Given the description of an element on the screen output the (x, y) to click on. 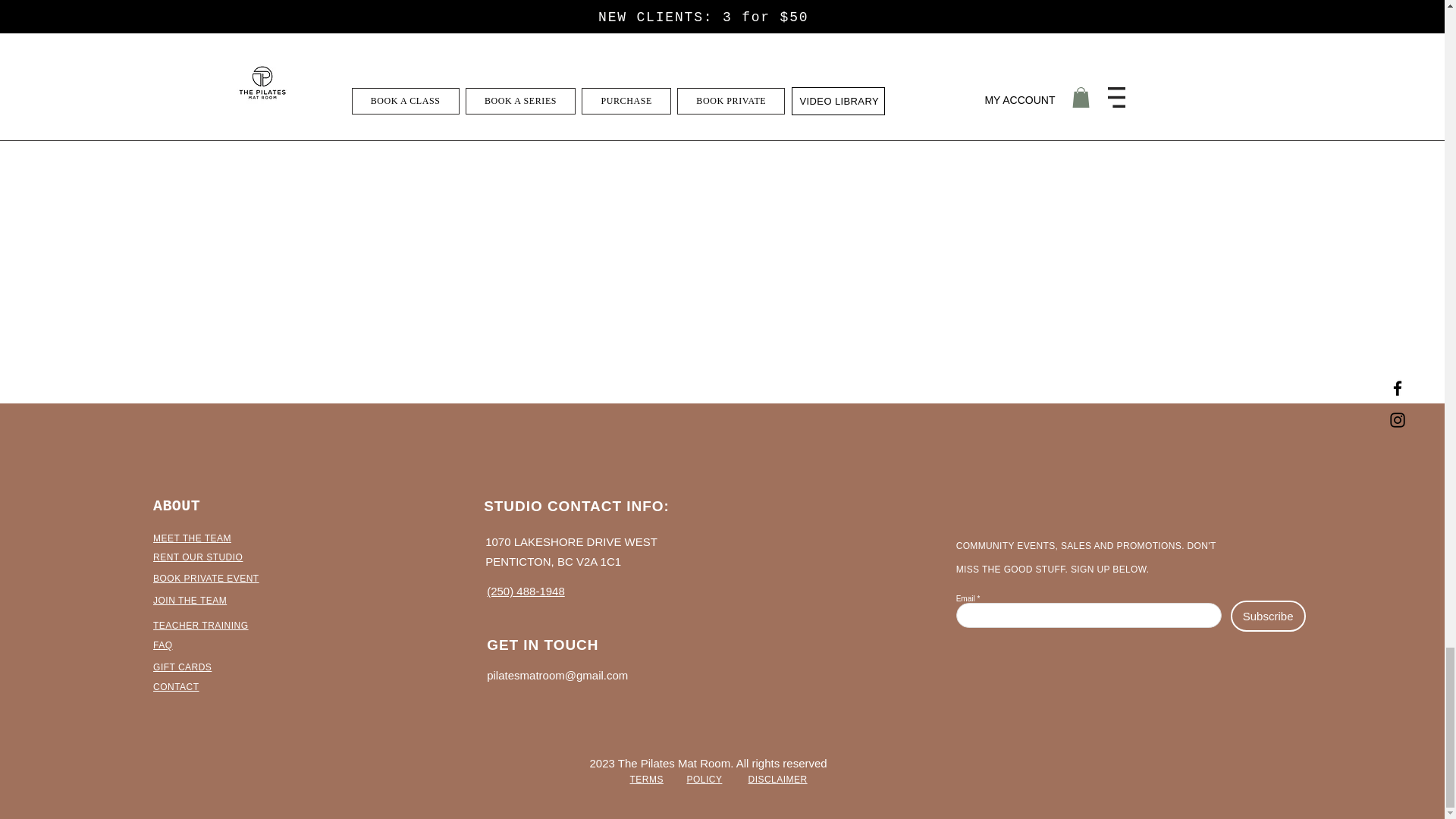
RENT OUR STUDIO (197, 557)
TEACHER TRAINING (199, 624)
JOIN THE TEAM (189, 600)
FAQ (161, 644)
BOOK PRIVATE EVENT (205, 578)
MEET THE TEAM (191, 538)
